Given the description of an element on the screen output the (x, y) to click on. 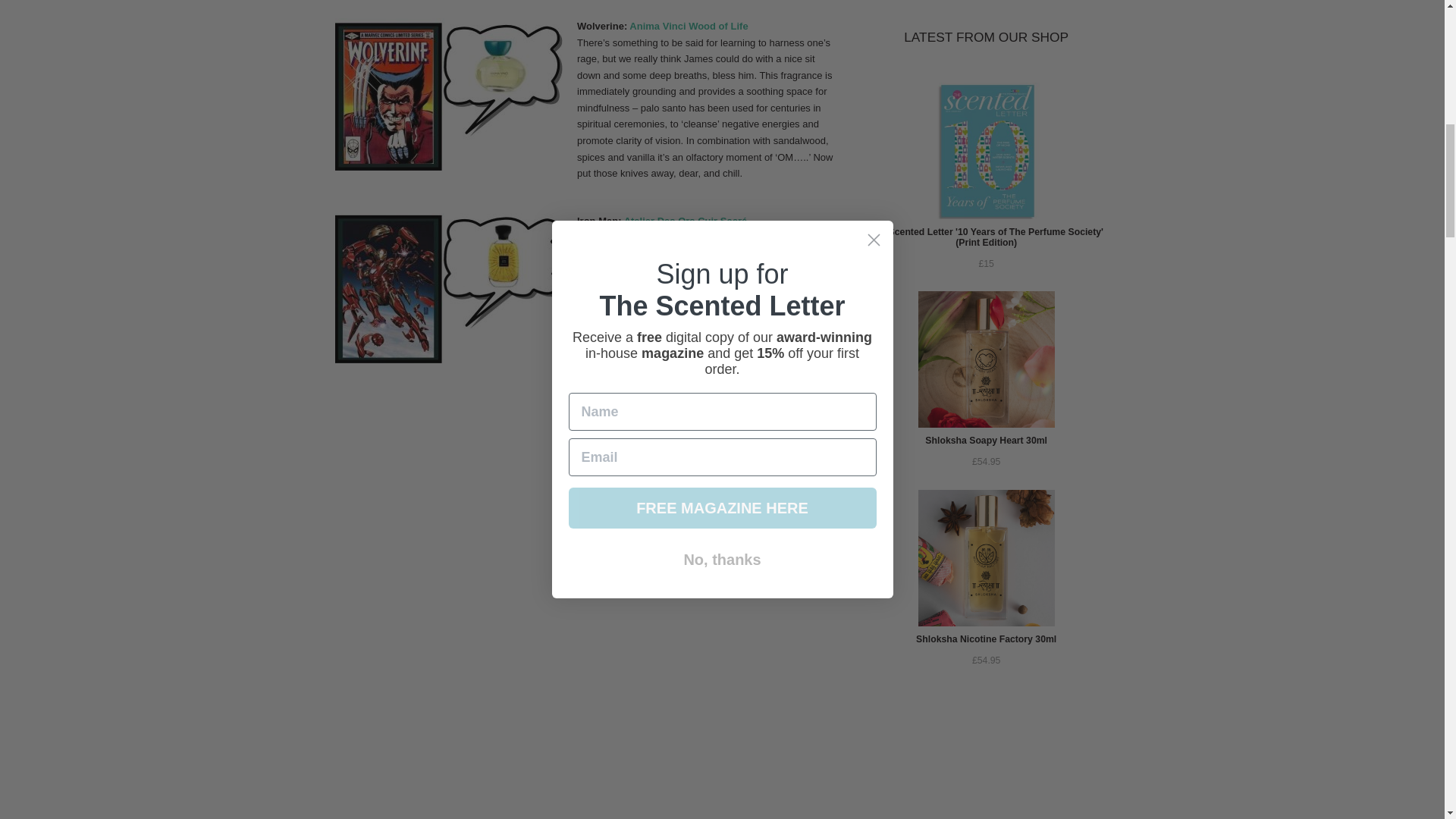
Batman on the cover of Batman: Hush. Art by Jim Lee. (703, 719)
